Given the description of an element on the screen output the (x, y) to click on. 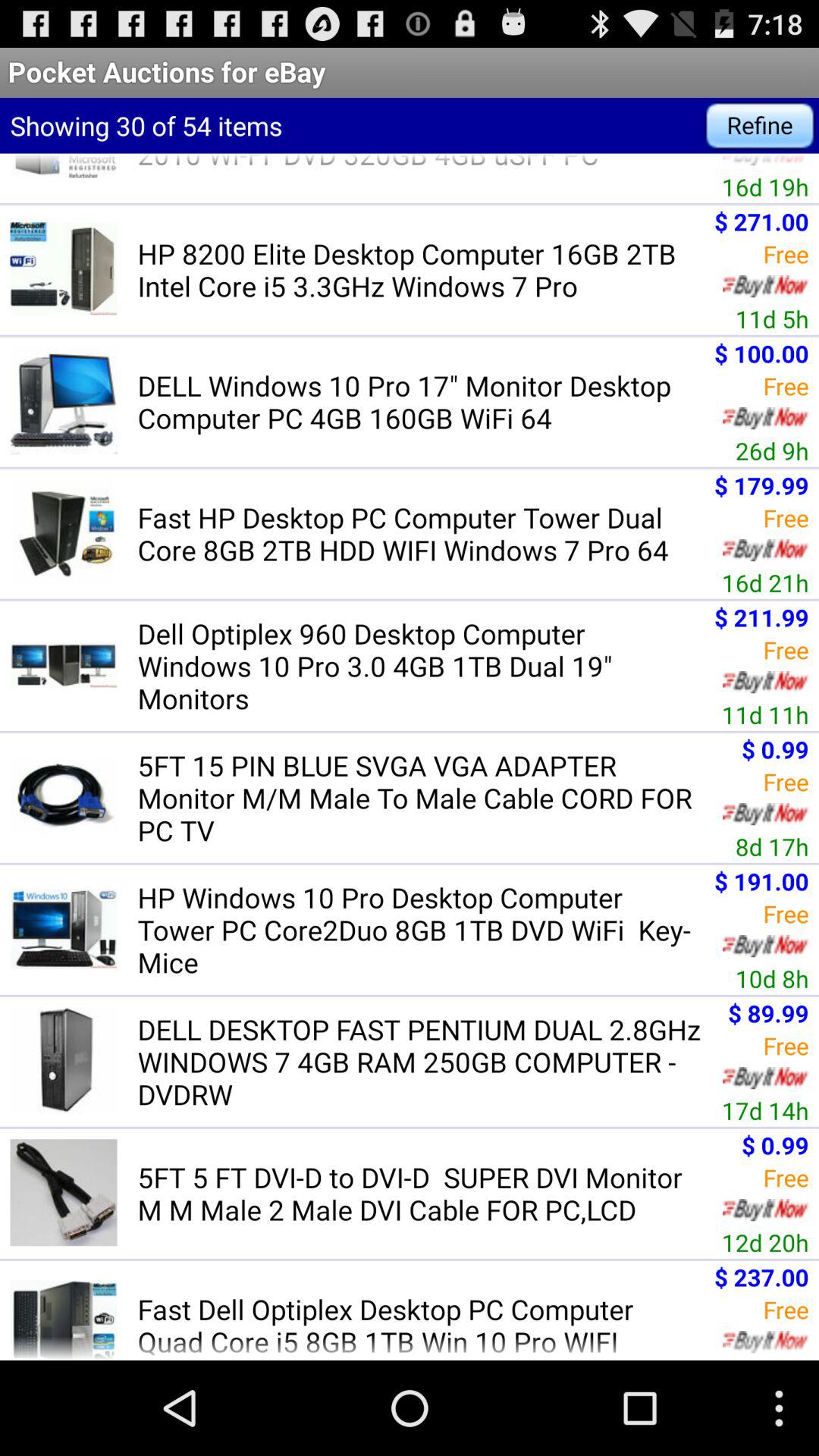
scroll until 11d 5h (771, 318)
